Given the description of an element on the screen output the (x, y) to click on. 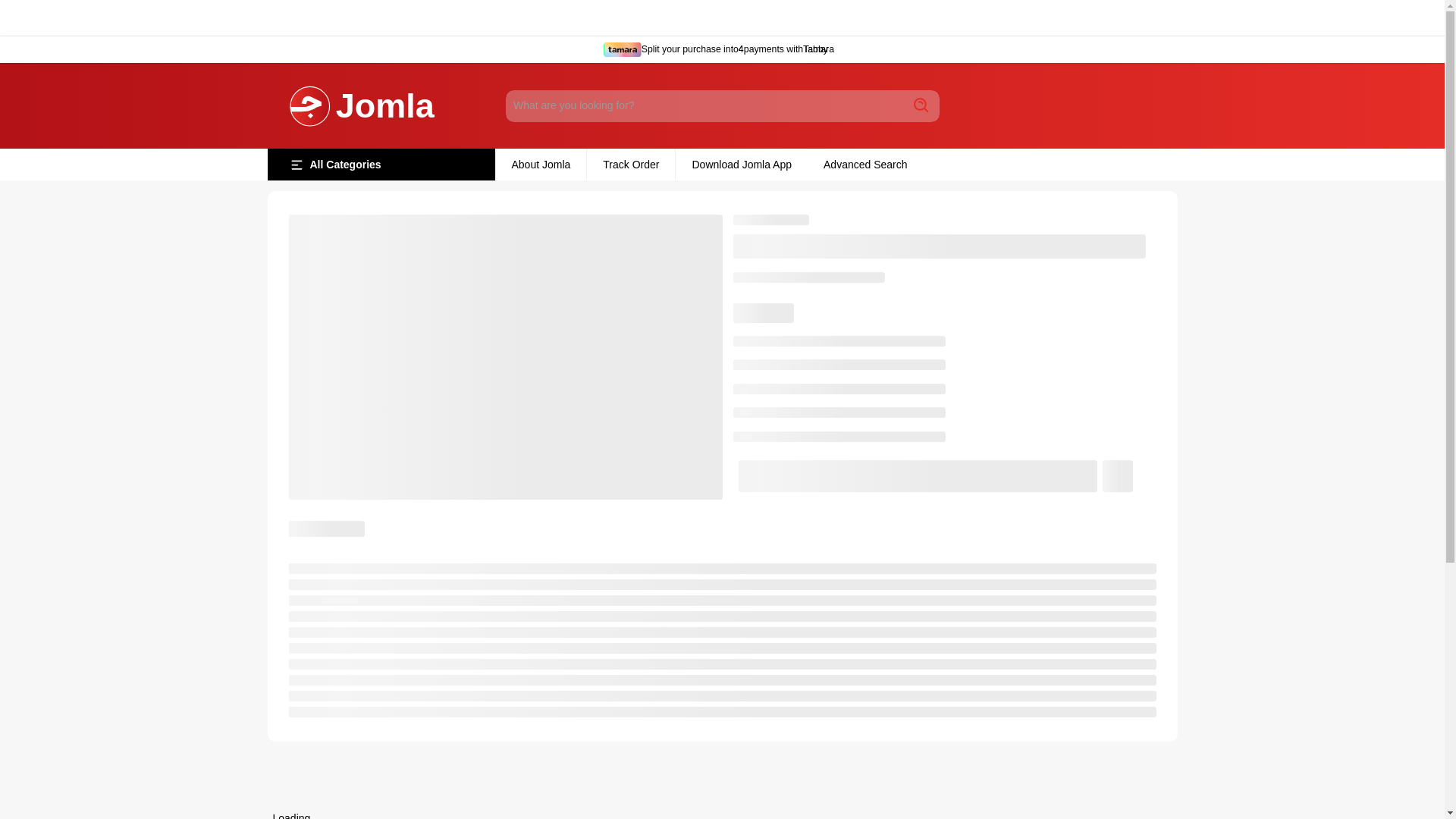
About Jomla (540, 164)
Track Order (630, 164)
Advanced Search (865, 164)
Jomla (363, 105)
All Categories (380, 164)
Download Jomla App (741, 164)
Jomla (363, 106)
